Given the description of an element on the screen output the (x, y) to click on. 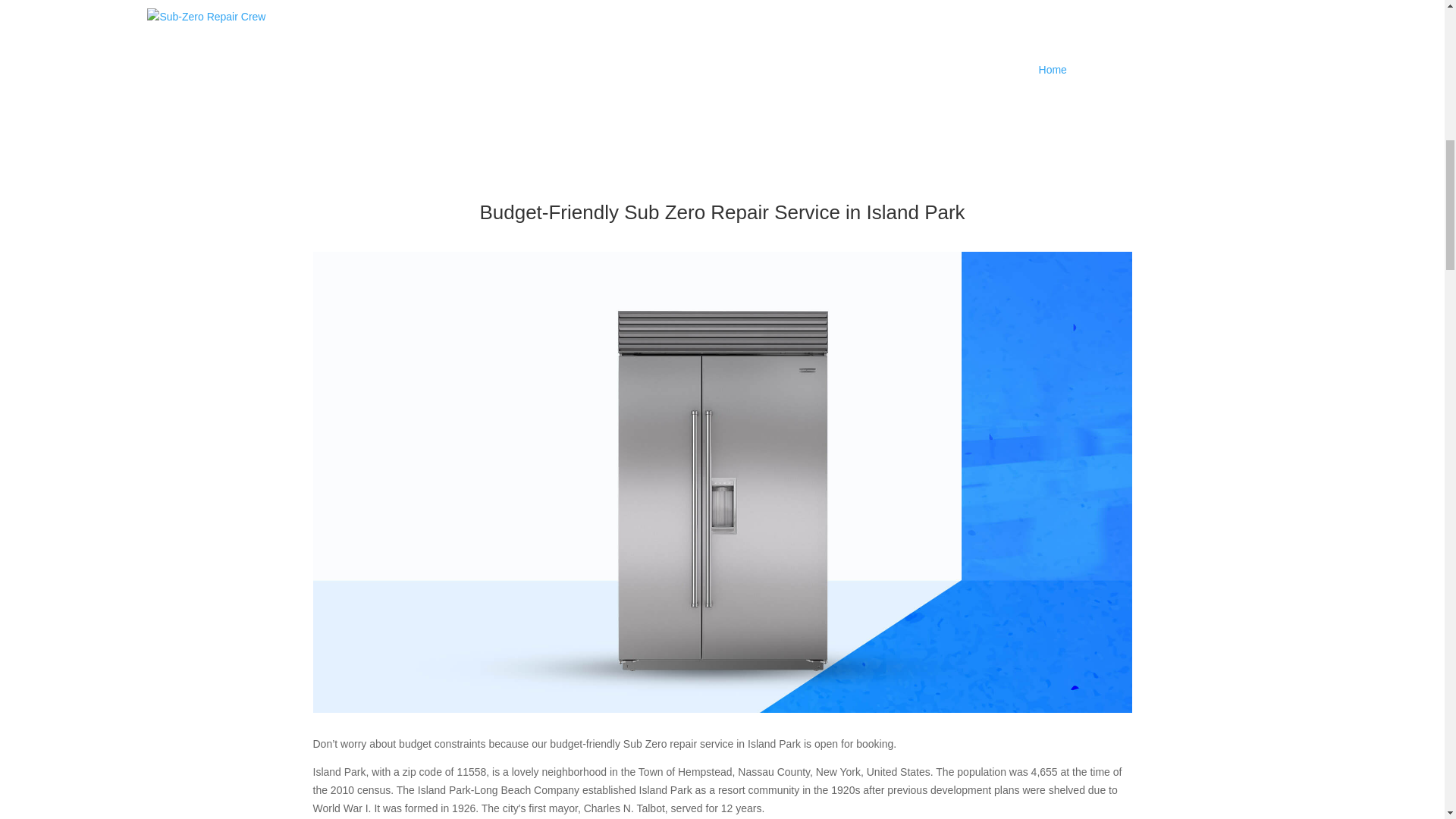
Home (1053, 69)
